Given the description of an element on the screen output the (x, y) to click on. 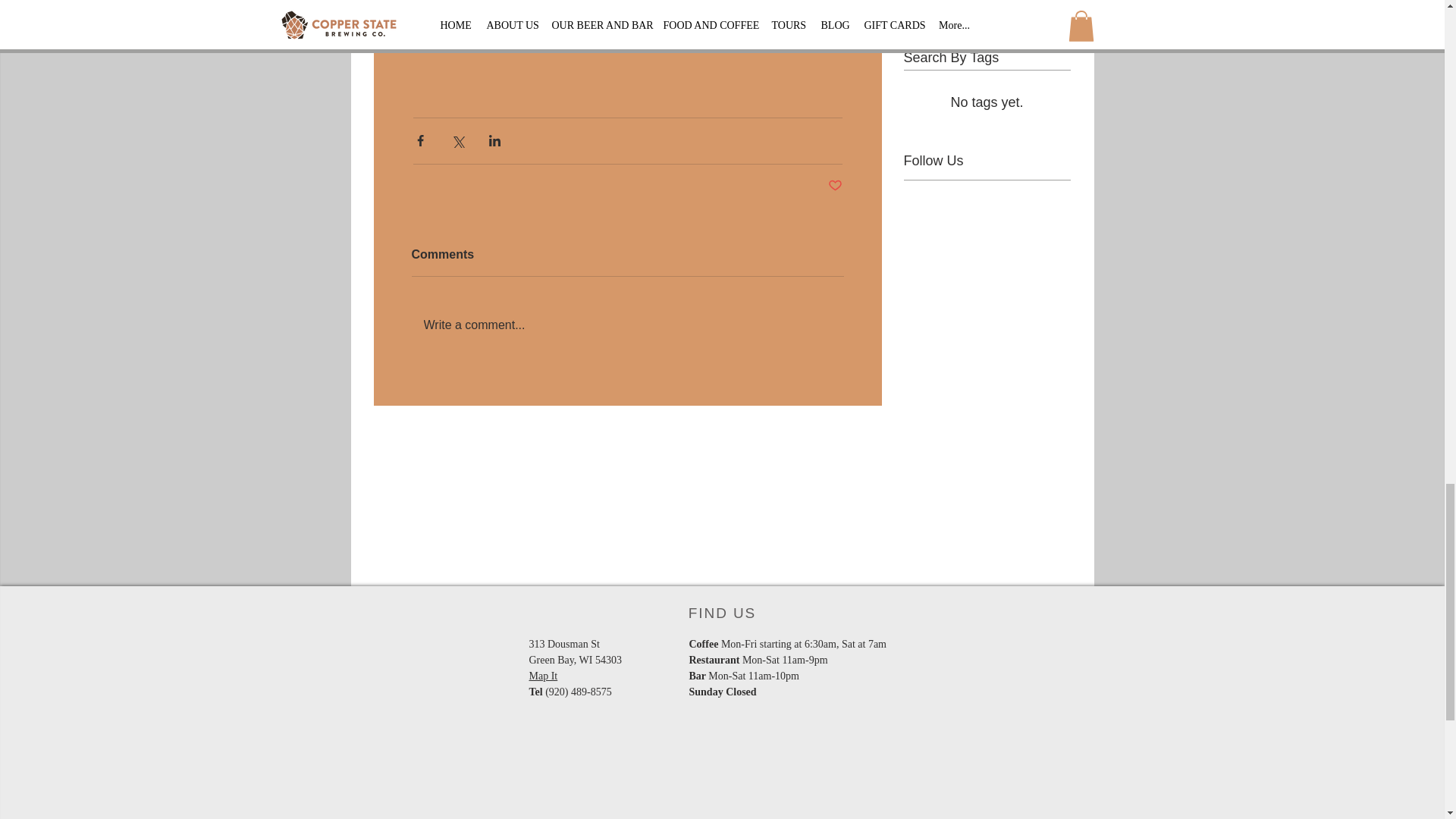
Post not marked as liked (835, 186)
Write a comment... (626, 324)
